Given the description of an element on the screen output the (x, y) to click on. 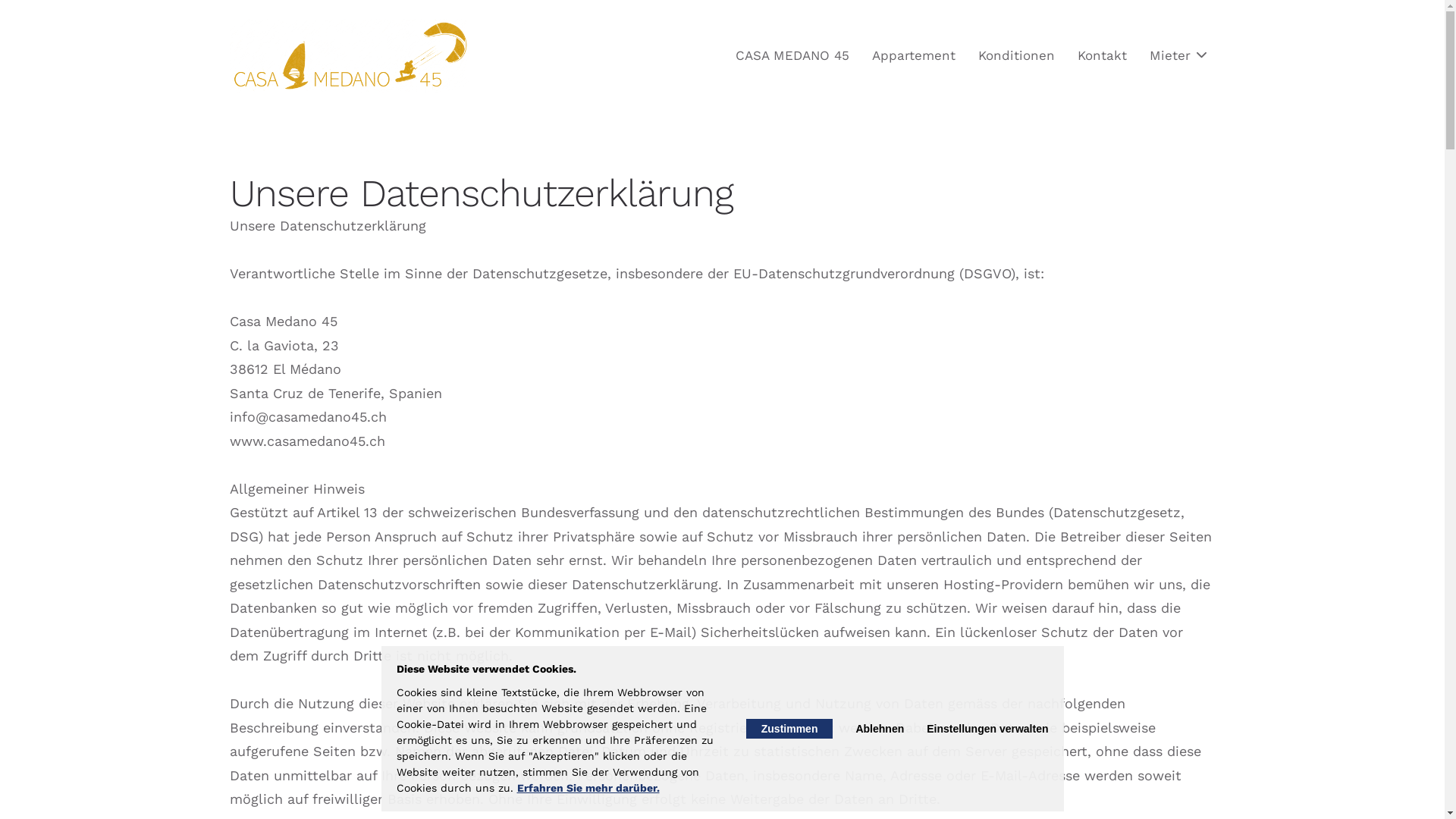
Ablehnen Element type: text (879, 728)
Konditionen Element type: text (1016, 55)
Appartement Element type: text (913, 55)
Einstellungen verwalten Element type: text (987, 728)
Zustimmen Element type: text (789, 728)
Kontakt Element type: text (1101, 55)
CASA MEDANO 45 Element type: text (792, 55)
